Given the description of an element on the screen output the (x, y) to click on. 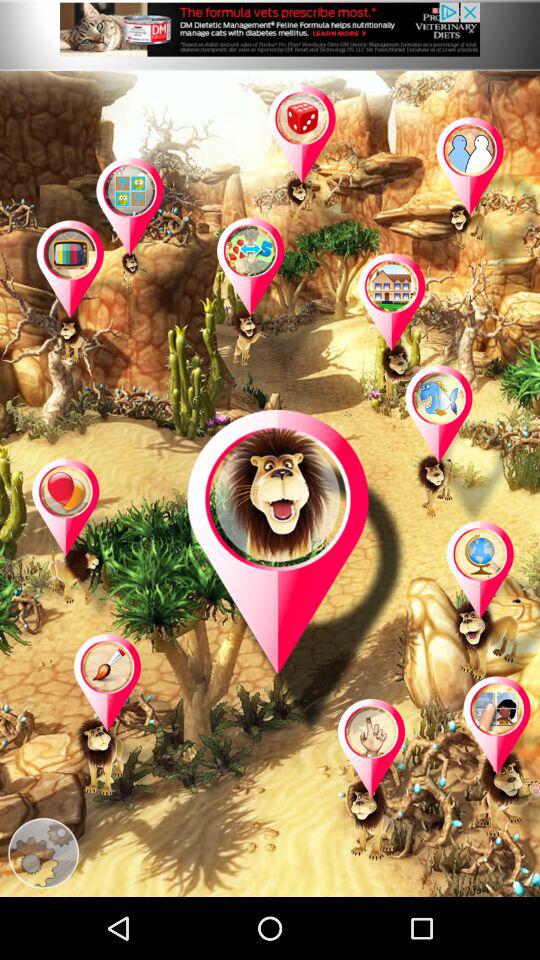
advertisement page (270, 35)
